Given the description of an element on the screen output the (x, y) to click on. 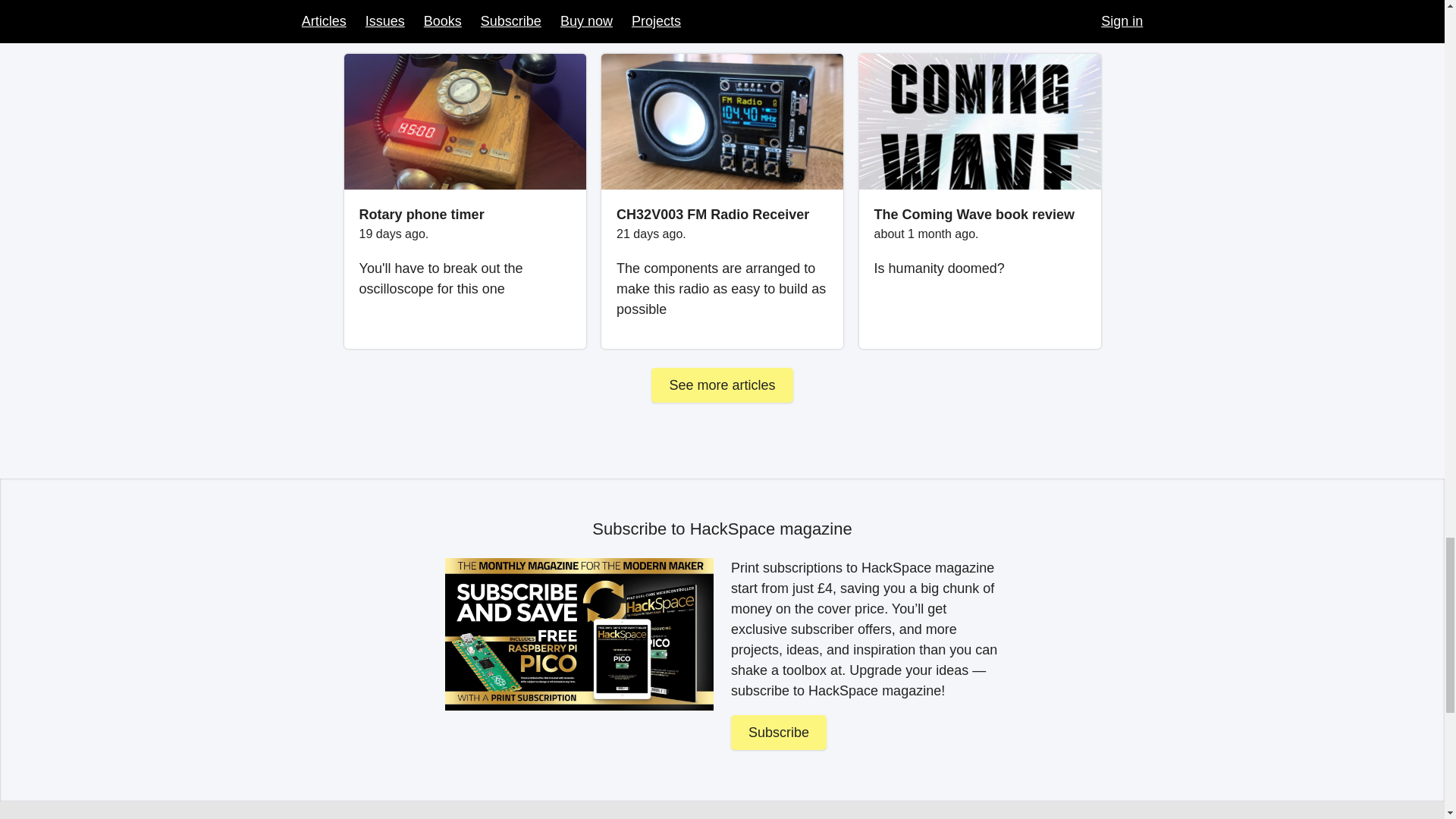
See more articles (721, 384)
Subscribe (778, 732)
